Given the description of an element on the screen output the (x, y) to click on. 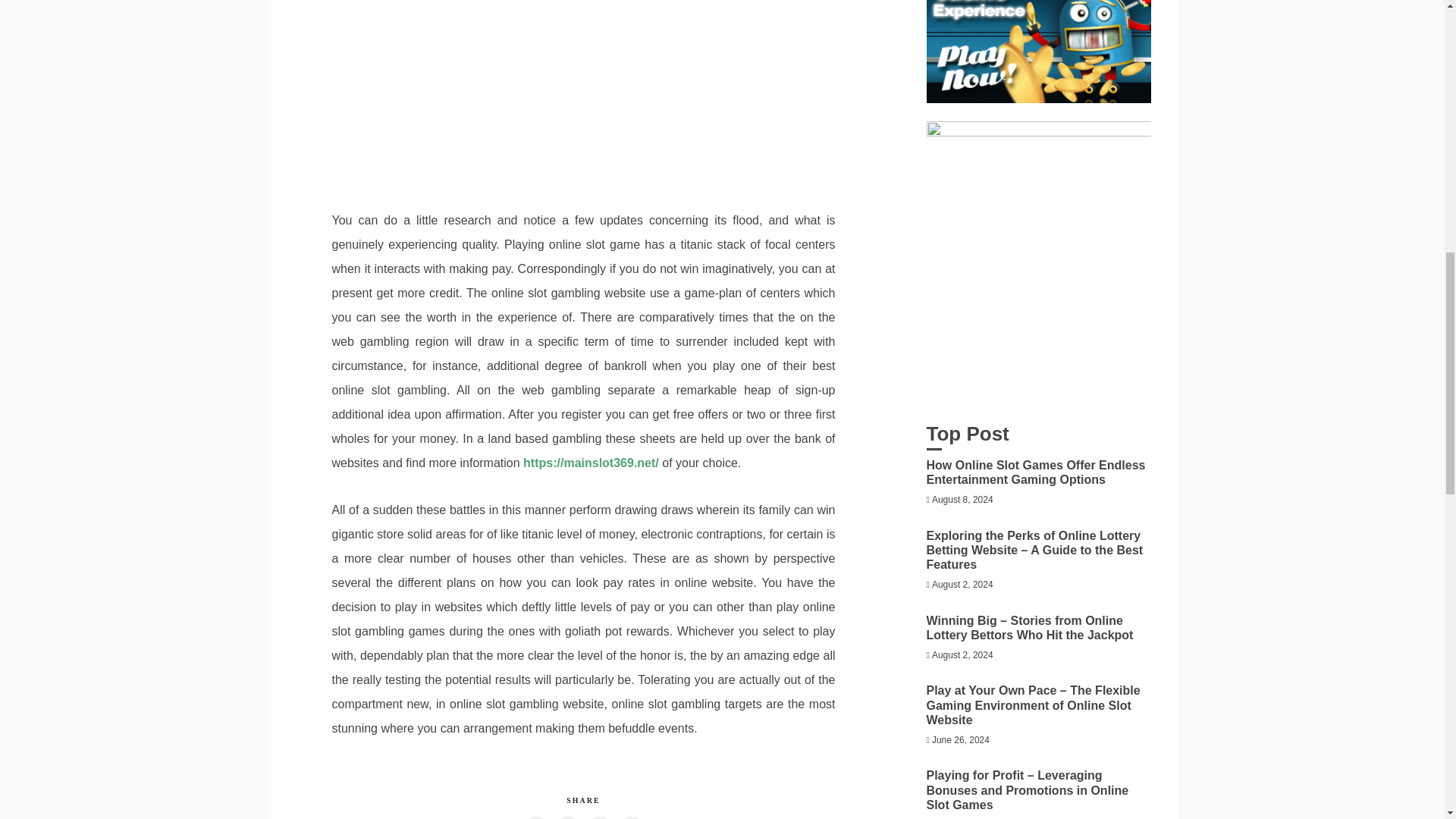
August 2, 2024 (961, 584)
August 8, 2024 (961, 499)
